Given the description of an element on the screen output the (x, y) to click on. 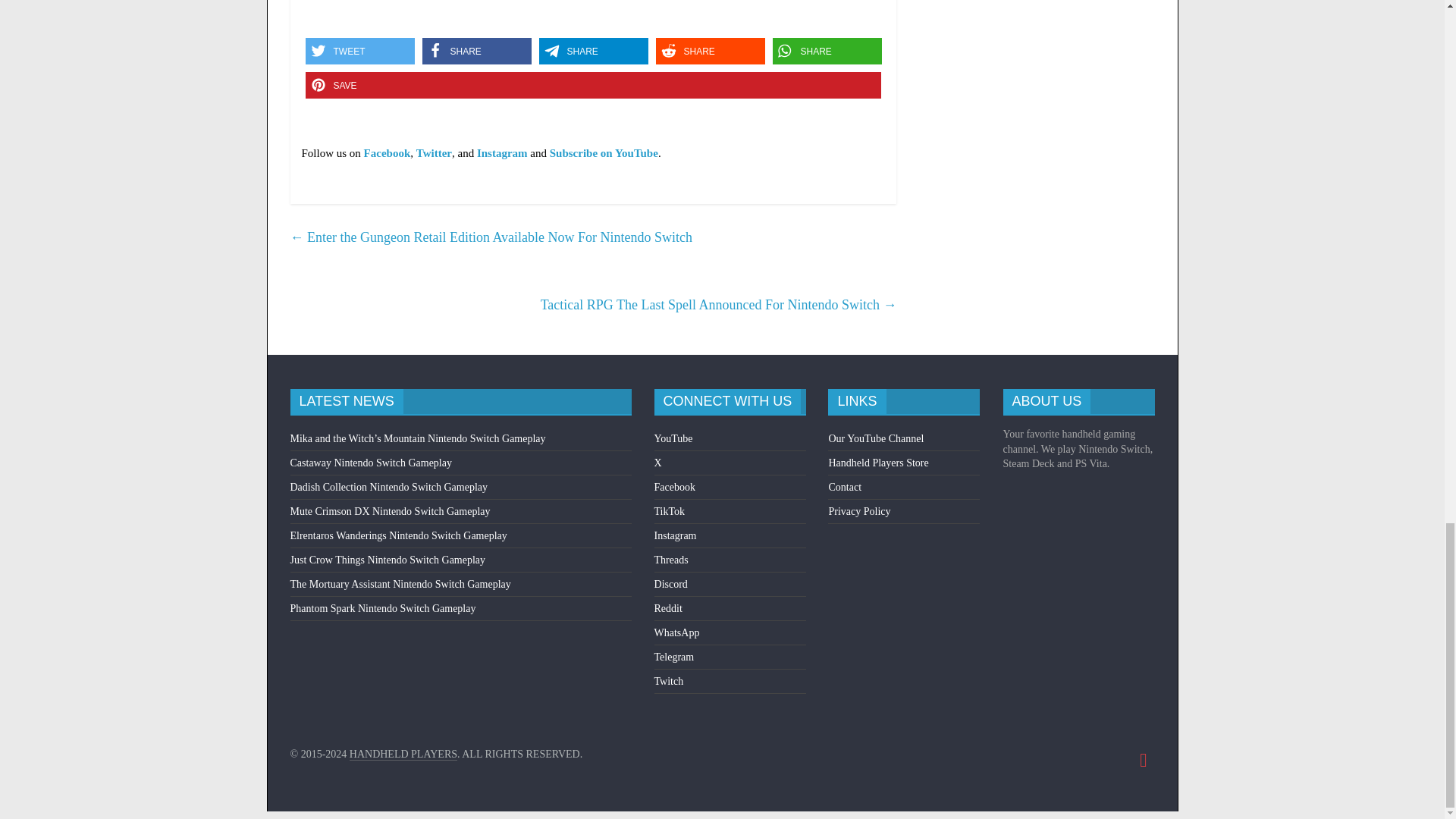
Share on Twitter (358, 50)
Share on Reddit (709, 50)
Share on Facebook (476, 50)
Share on Telegram (592, 50)
Pin it on Pinterest (592, 85)
Share on Whatsapp (825, 50)
